Given the description of an element on the screen output the (x, y) to click on. 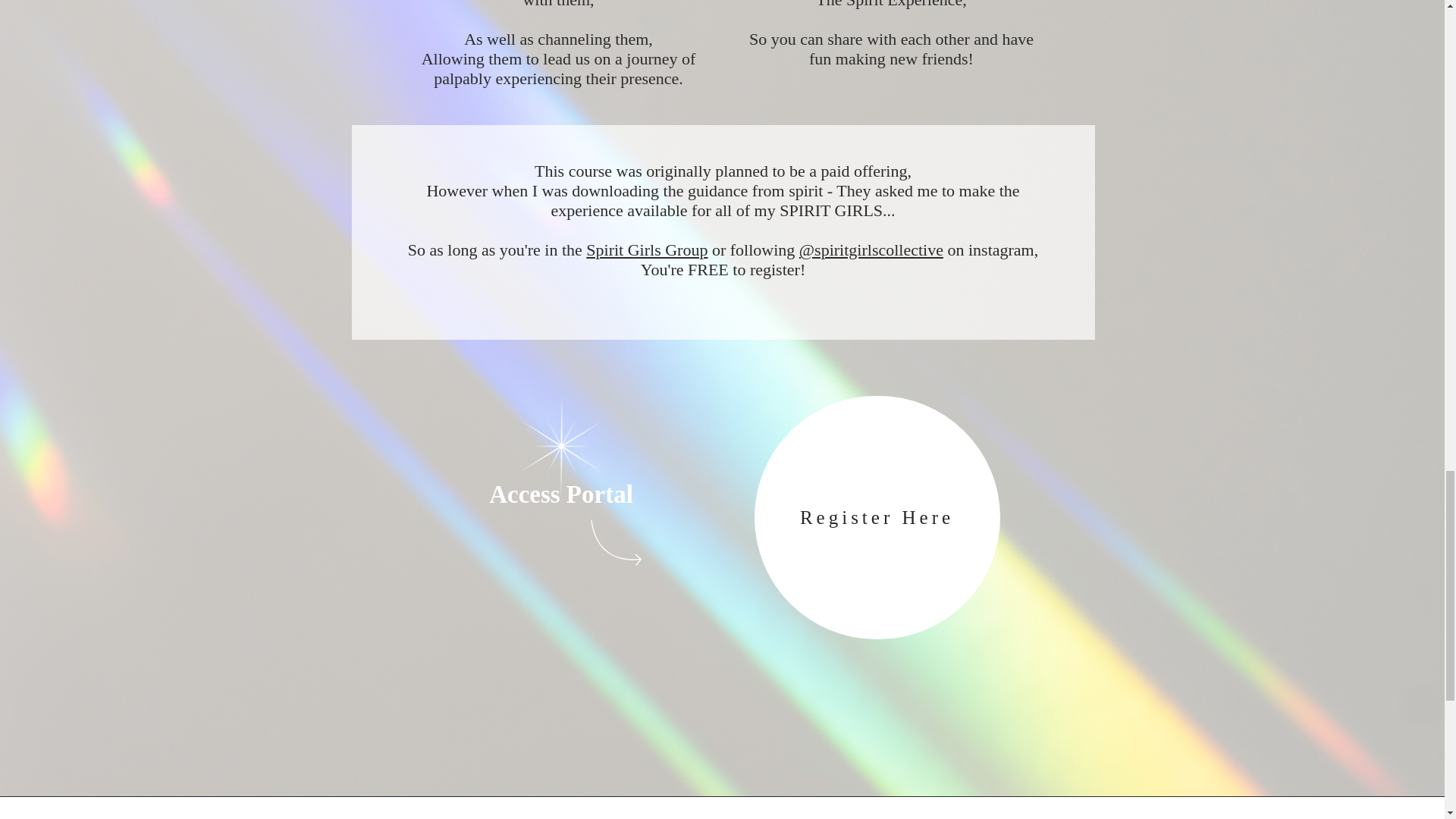
Spirit Girls Group (646, 249)
Register Here (876, 517)
